Given the description of an element on the screen output the (x, y) to click on. 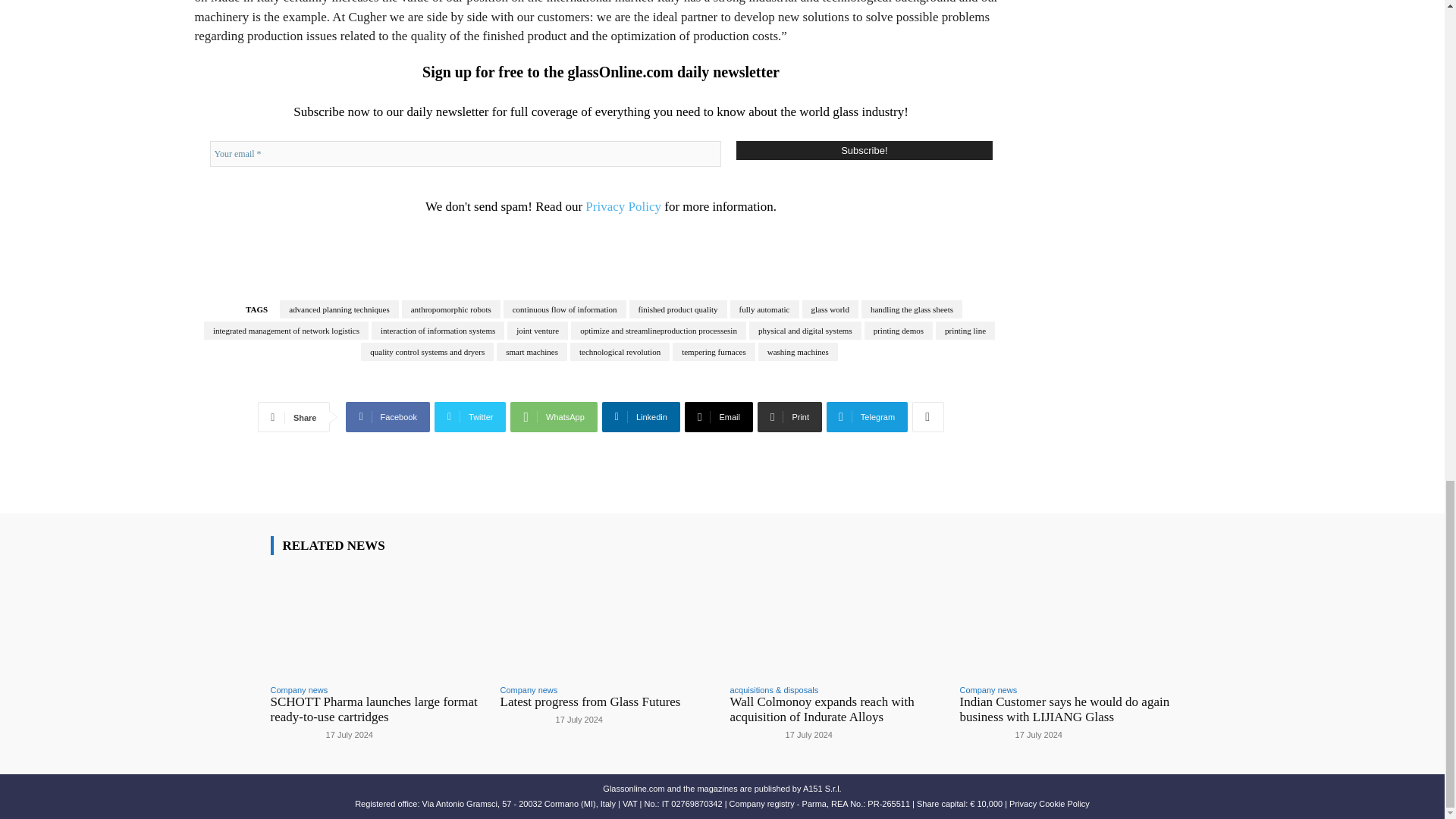
Subscribe! (863, 149)
Facebook (387, 417)
Twitter (469, 417)
Your email (464, 153)
Email (718, 417)
Linkedin (640, 417)
Print (789, 417)
WhatsApp (553, 417)
